Given the description of an element on the screen output the (x, y) to click on. 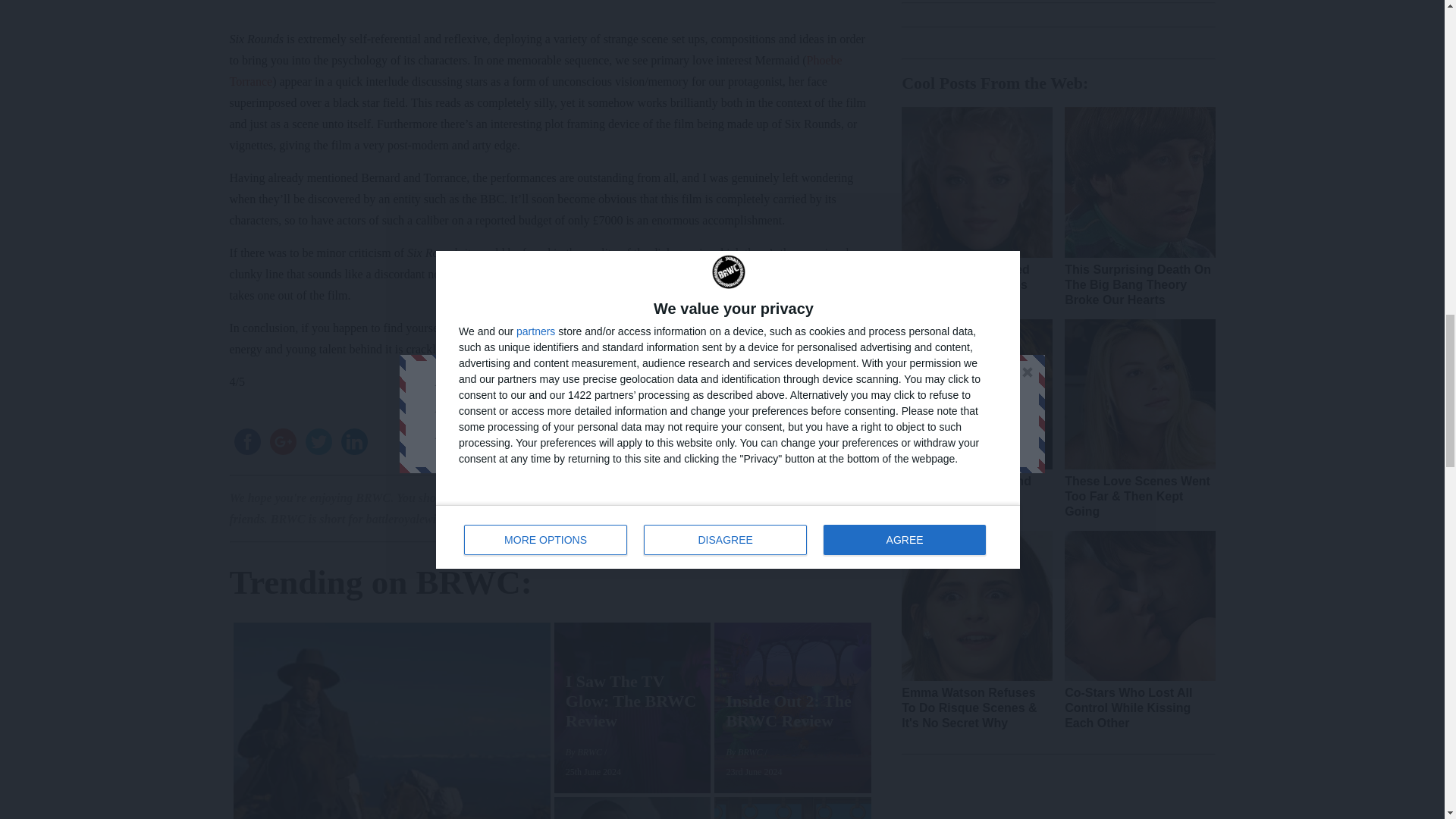
google (282, 441)
facebook (246, 441)
linkedin (354, 441)
twitter (317, 441)
